Given the description of an element on the screen output the (x, y) to click on. 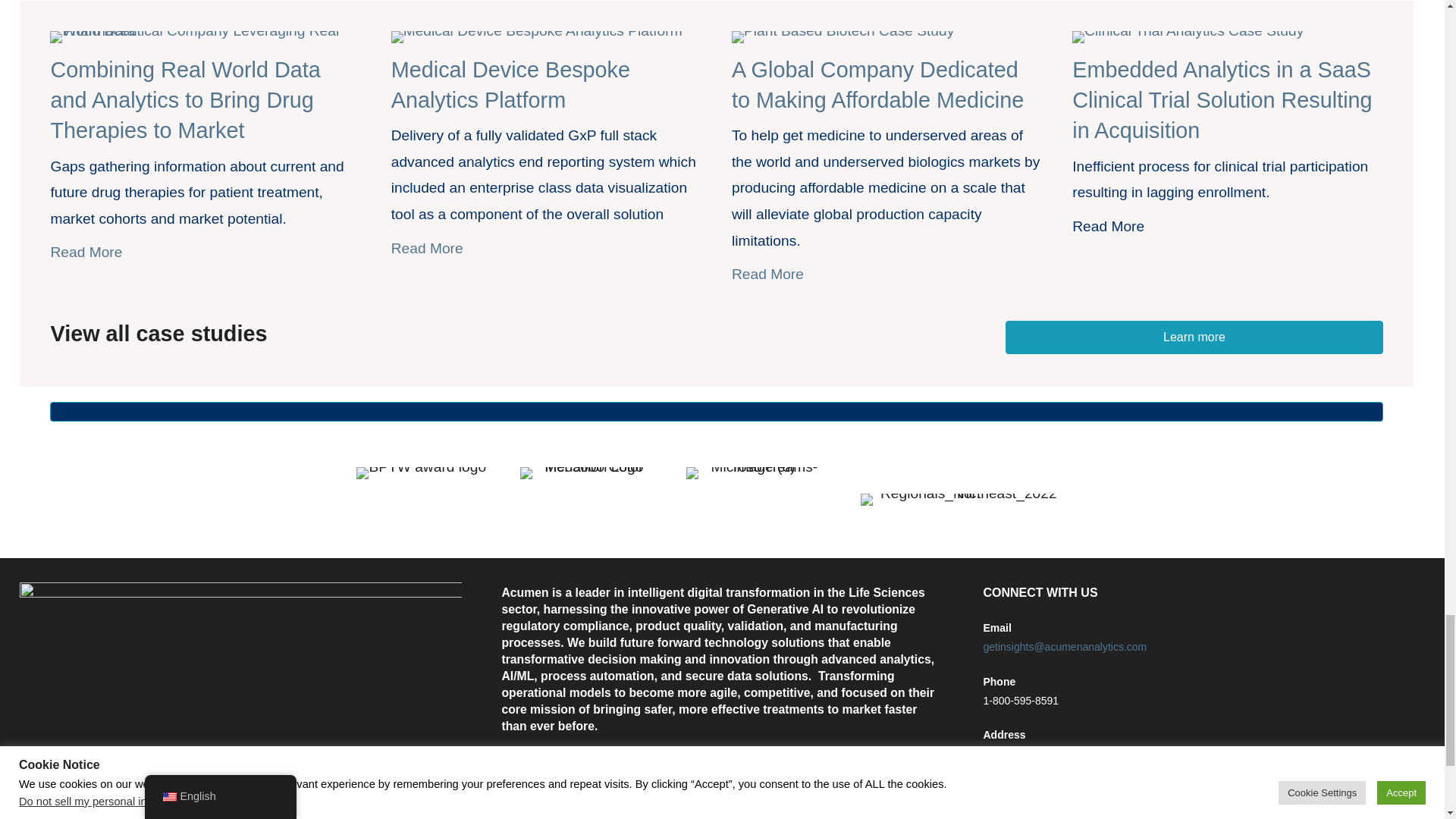
Read More (546, 248)
Gobalto (1187, 37)
A Global Company Dedicated to Making Affordable Medicine (877, 84)
Medical Device Bespoke Analytics Platform (510, 84)
AiCuris (204, 37)
Zimmer Biomet TQSS (536, 37)
Read More (887, 274)
Read More (204, 252)
Inc. 5000 Color Medallion Logo (587, 472)
Phyllo case study (842, 37)
BPTW award logo (421, 472)
